Given the description of an element on the screen output the (x, y) to click on. 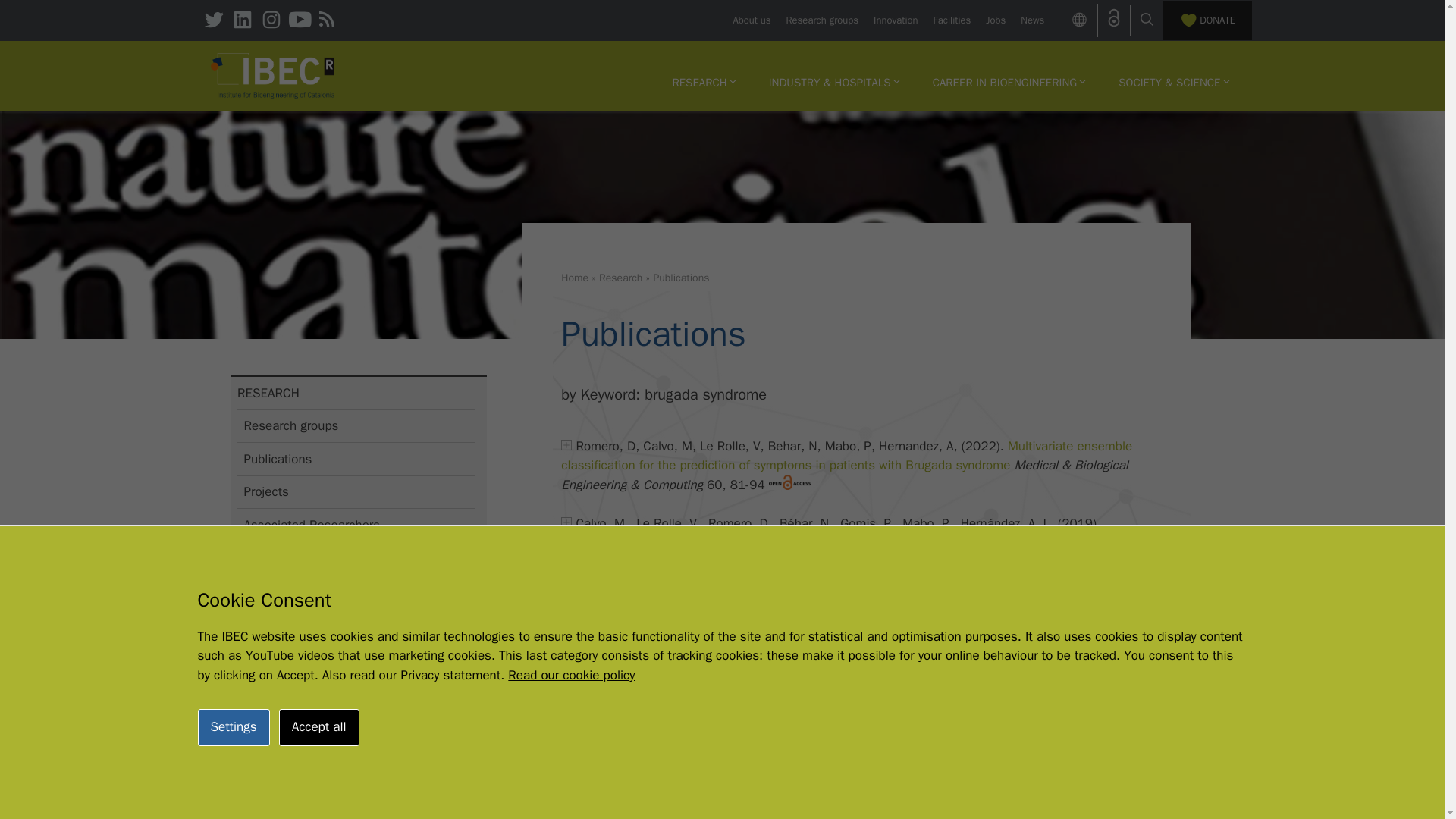
Innovation (895, 19)
News (1031, 19)
RESEARCH (704, 81)
Research groups (822, 19)
Institute for Bioengineering of Catalonia (272, 74)
Jobs (995, 19)
About us (751, 19)
DONATE (1207, 20)
Institute for Bioengineering of Catalonia (272, 75)
Facilities (952, 19)
